Given the description of an element on the screen output the (x, y) to click on. 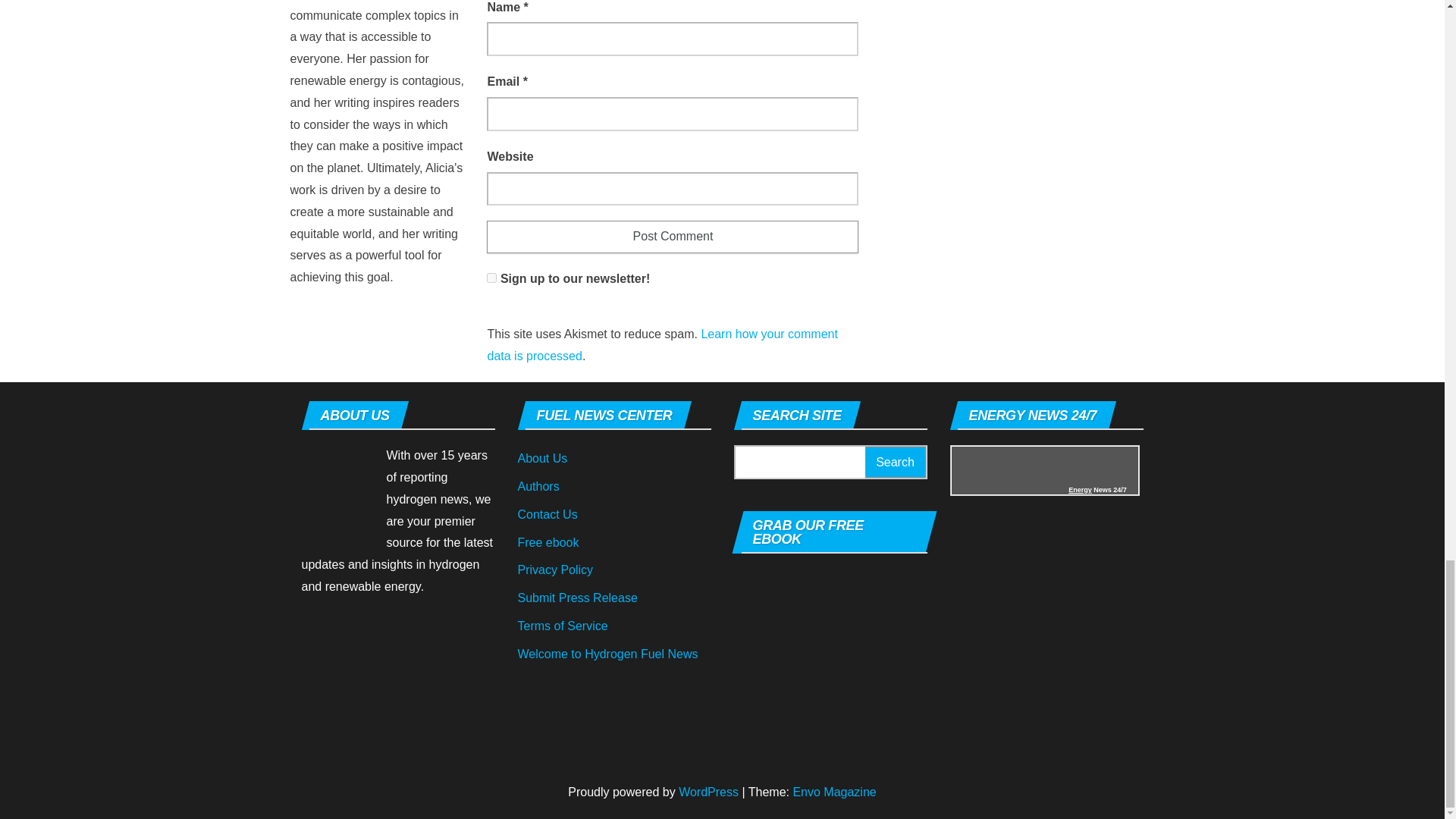
1 (491, 277)
Post Comment (672, 236)
Search (894, 461)
